Given the description of an element on the screen output the (x, y) to click on. 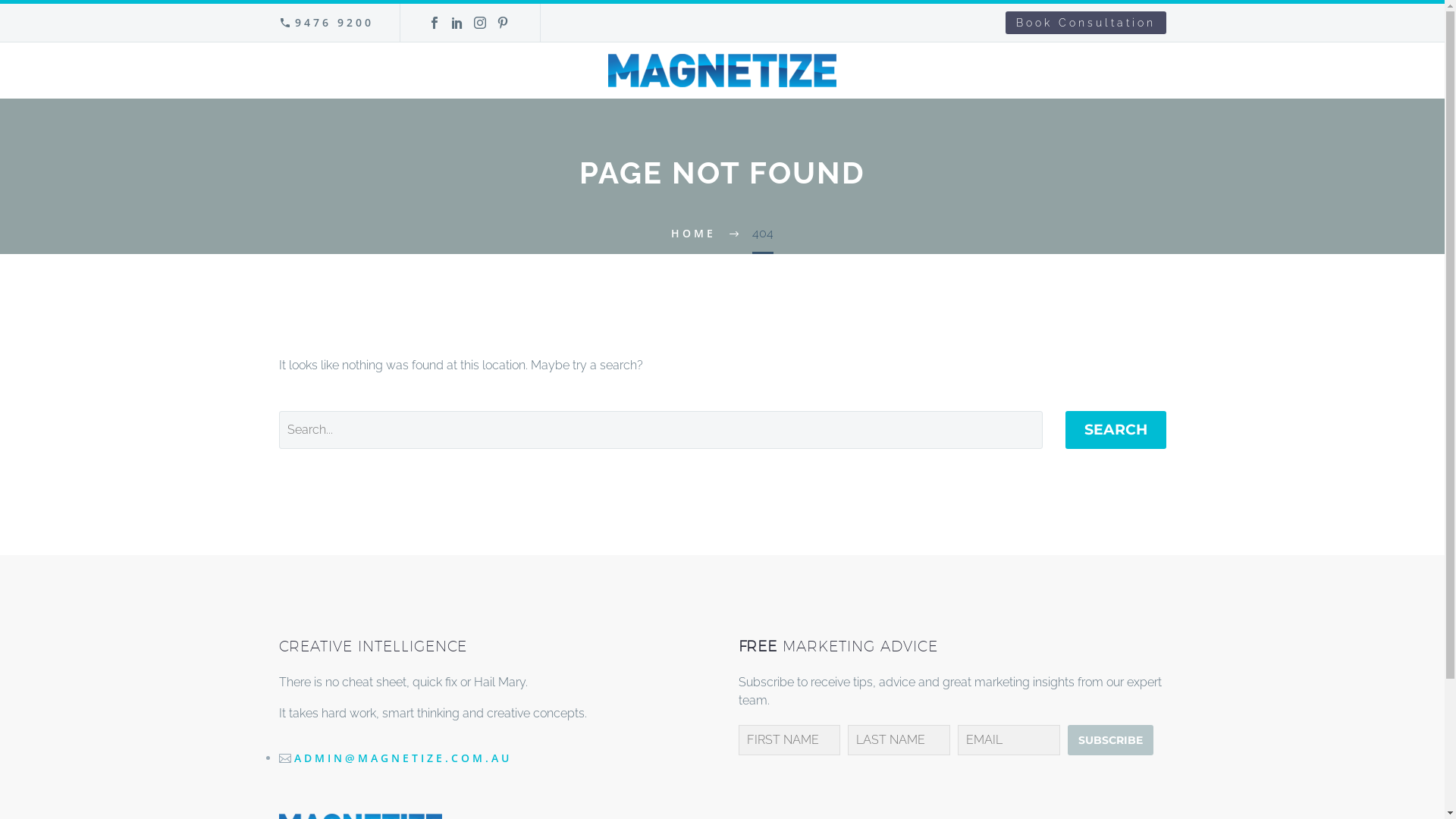
Book Consultation Element type: text (1085, 22)
Pinterest Element type: hover (502, 22)
9476 9200 Element type: text (333, 22)
HOME Element type: text (693, 232)
Instagram Element type: hover (479, 22)
ADMIN@MAGNETIZE.COM.AU Element type: text (402, 758)
SUBSCRIBE Element type: text (1110, 739)
Facebook Element type: hover (434, 22)
SEARCH Element type: text (1114, 429)
LinkedIn Element type: hover (456, 22)
